Given the description of an element on the screen output the (x, y) to click on. 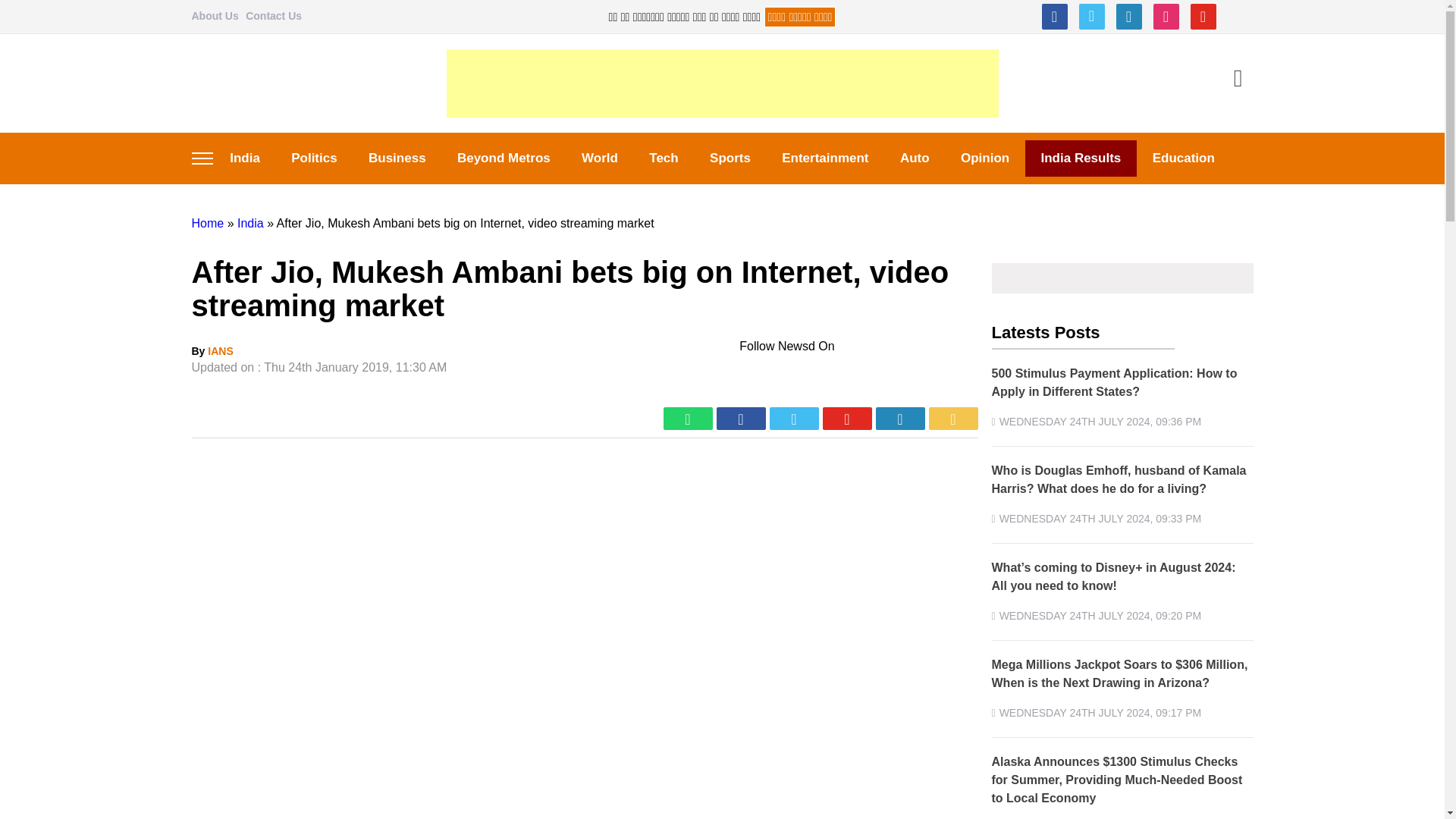
Opinion (984, 158)
Newsd.in (218, 83)
Facebook (1054, 16)
Tech (663, 158)
Politics (314, 158)
Search (1237, 79)
Auto (913, 158)
Business (396, 158)
India (244, 158)
IANS (220, 350)
Business (396, 158)
Auto (913, 158)
Tech (663, 158)
Beyond Metros (503, 158)
India (250, 223)
